Given the description of an element on the screen output the (x, y) to click on. 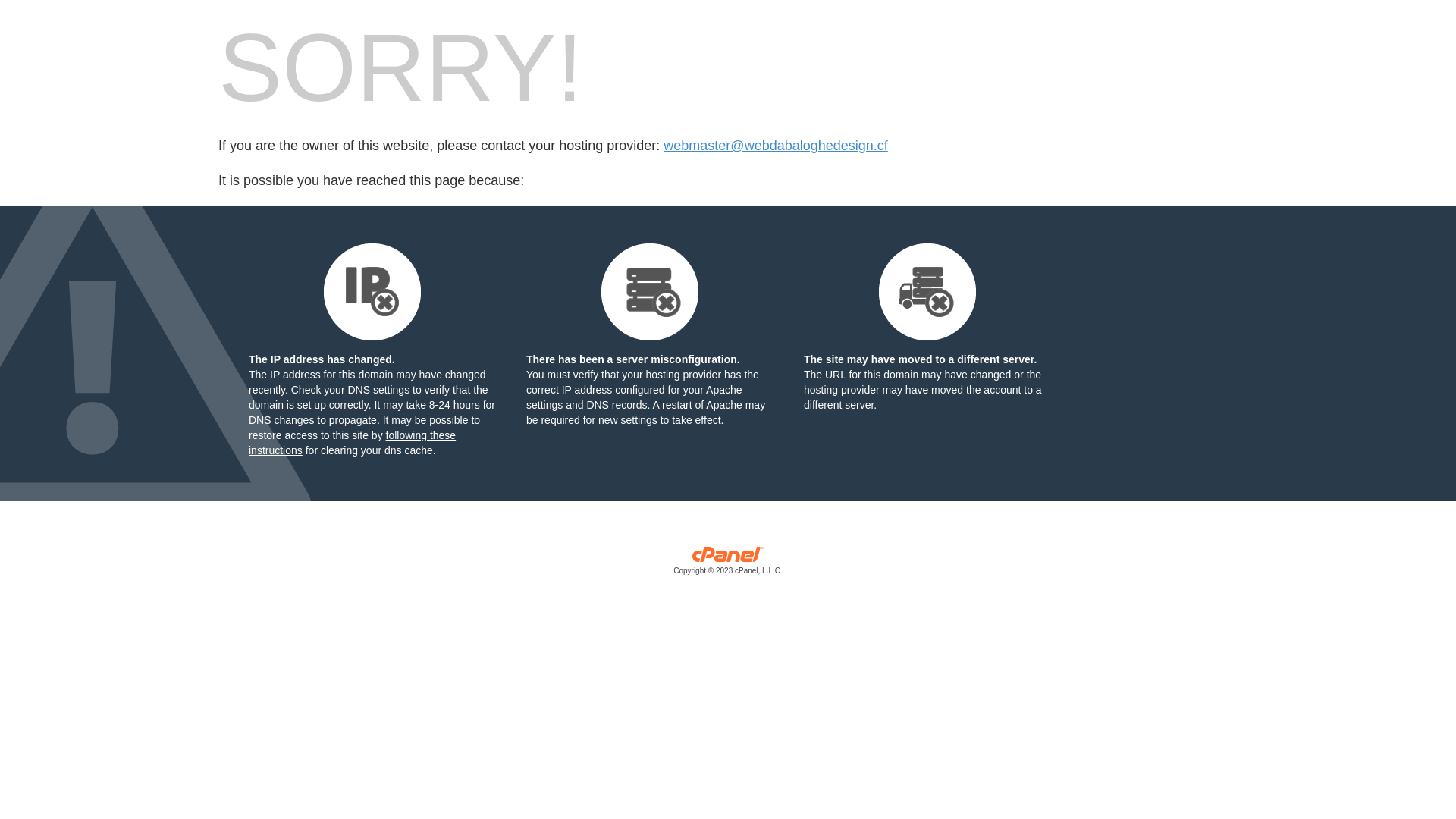
webmaster@webdabaloghedesign.cf Element type: text (775, 145)
following these instructions Element type: text (351, 442)
